Given the description of an element on the screen output the (x, y) to click on. 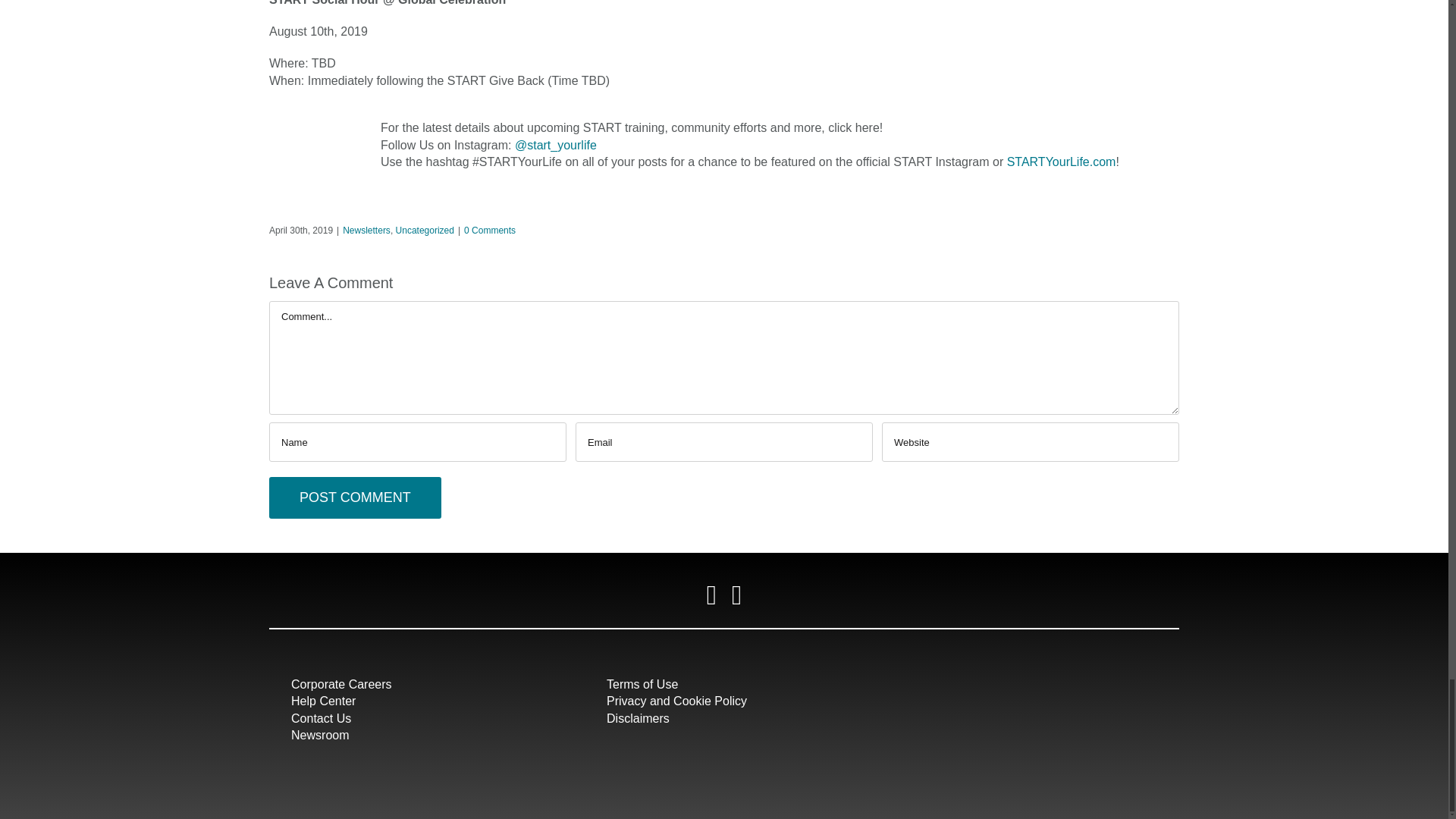
Newsletters (366, 230)
STARTYourLife.com (1061, 161)
Corporate Careers (341, 684)
Privacy and Cookie Policy (676, 700)
Newsroom (320, 735)
Contact Us (320, 717)
Uncategorized (425, 230)
Post Comment (355, 497)
Help Center (323, 700)
Disclaimers (638, 717)
Post Comment (355, 497)
0 Comments (489, 230)
Terms of Use (642, 684)
